Given the description of an element on the screen output the (x, y) to click on. 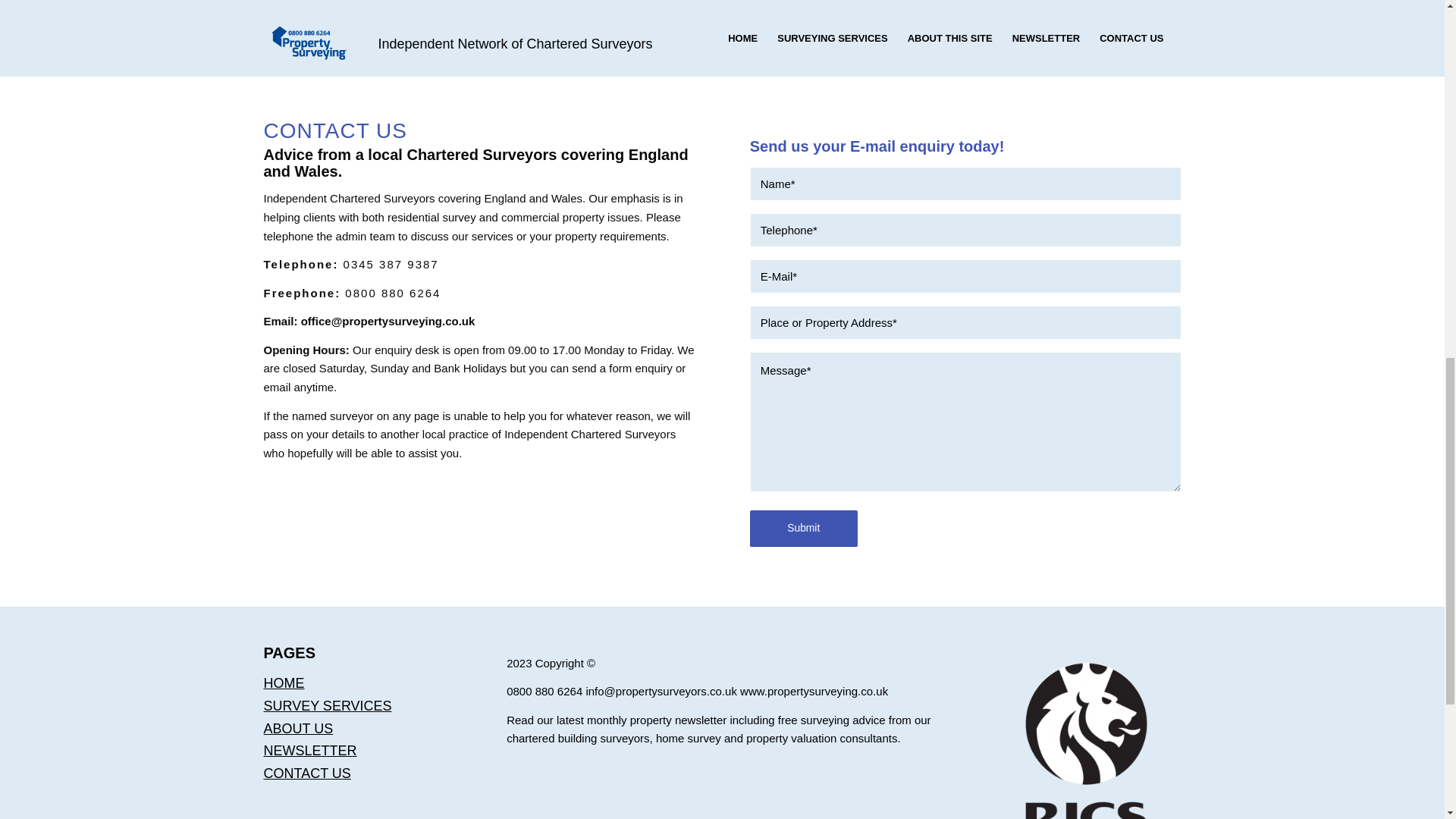
ABOUT US (298, 728)
Submit (803, 528)
Submit (803, 528)
HOME (283, 683)
NEWSLETTER (309, 750)
CONTACT US (306, 773)
SURVEY SERVICES (327, 705)
